Given the description of an element on the screen output the (x, y) to click on. 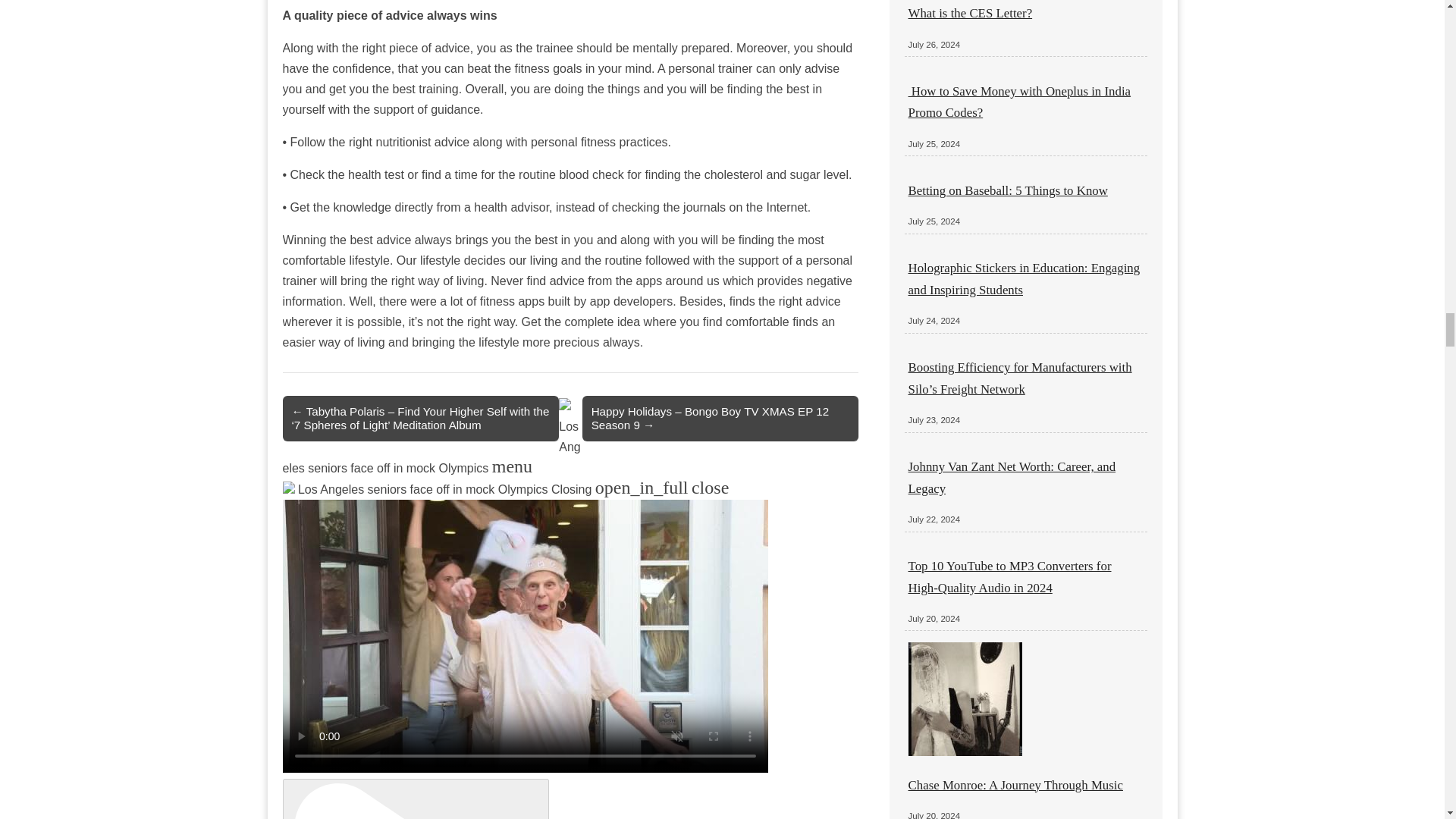
Betting on Baseball: 5 Things to Know (1008, 190)
Chase Monroe: A Journey Through Music (1015, 785)
What is the CES Letter? (970, 12)
 How to Save Money with Oneplus in India Promo Codes? (1019, 101)
Johnny Van Zant Net Worth: Career, and Legacy (1012, 477)
